Given the description of an element on the screen output the (x, y) to click on. 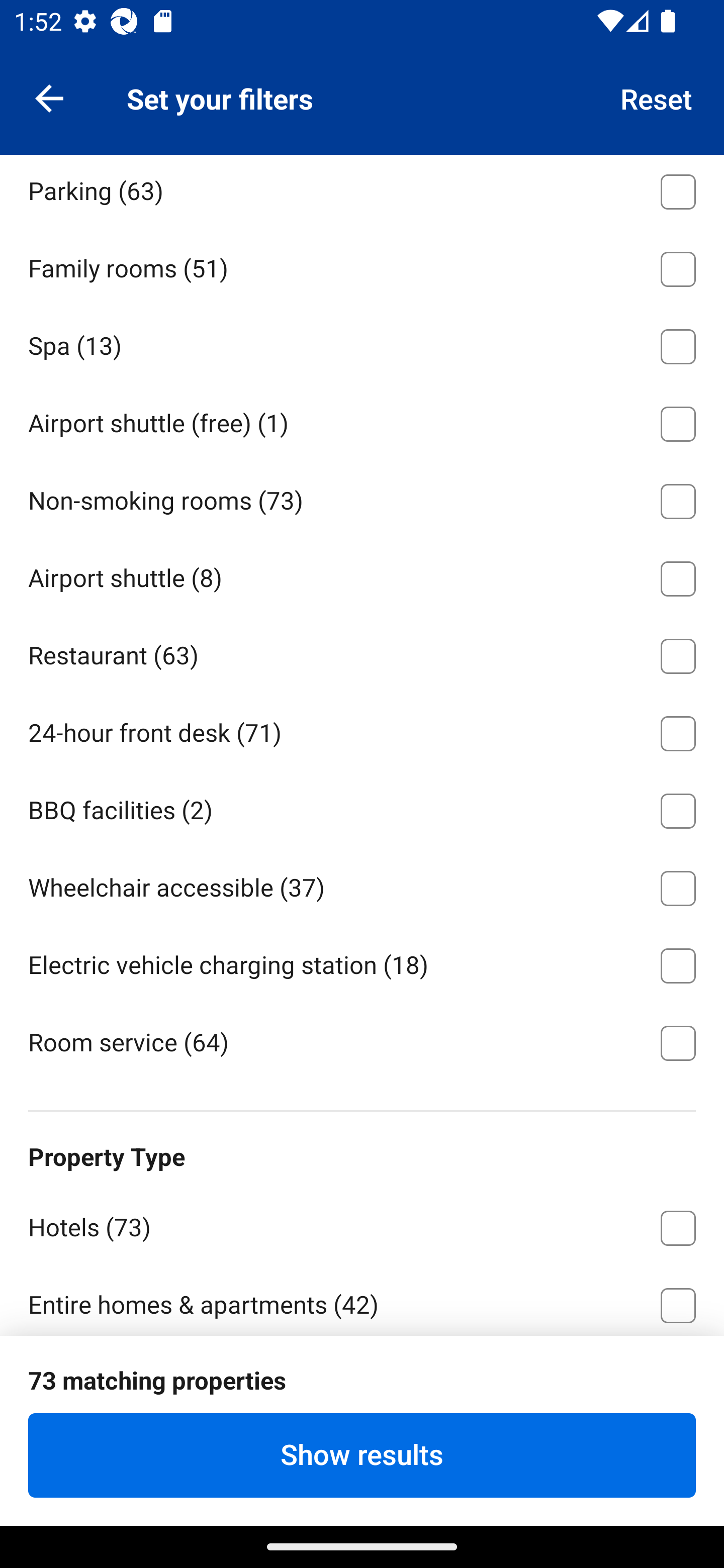
Navigate up (49, 97)
Reset (656, 97)
Pet friendly ⁦(9) (361, 111)
Parking ⁦(63) (361, 191)
Family rooms ⁦(51) (361, 265)
Spa ⁦(13) (361, 343)
Airport shuttle (free) ⁦(1) (361, 420)
Non-smoking rooms ⁦(73) (361, 497)
Airport shuttle ⁦(8) (361, 575)
Restaurant ⁦(63) (361, 652)
24-hour front desk ⁦(71) (361, 729)
BBQ facilities ⁦(2) (361, 807)
Wheelchair accessible ⁦(37) (361, 884)
Electric vehicle charging station ⁦(18) (361, 961)
Room service ⁦(64) (361, 1040)
Hotels ⁦(73) (361, 1224)
Entire homes & apartments ⁦(42) (361, 1299)
Family-Friendly Properties ⁦(3) (361, 1378)
Show results (361, 1454)
